Given the description of an element on the screen output the (x, y) to click on. 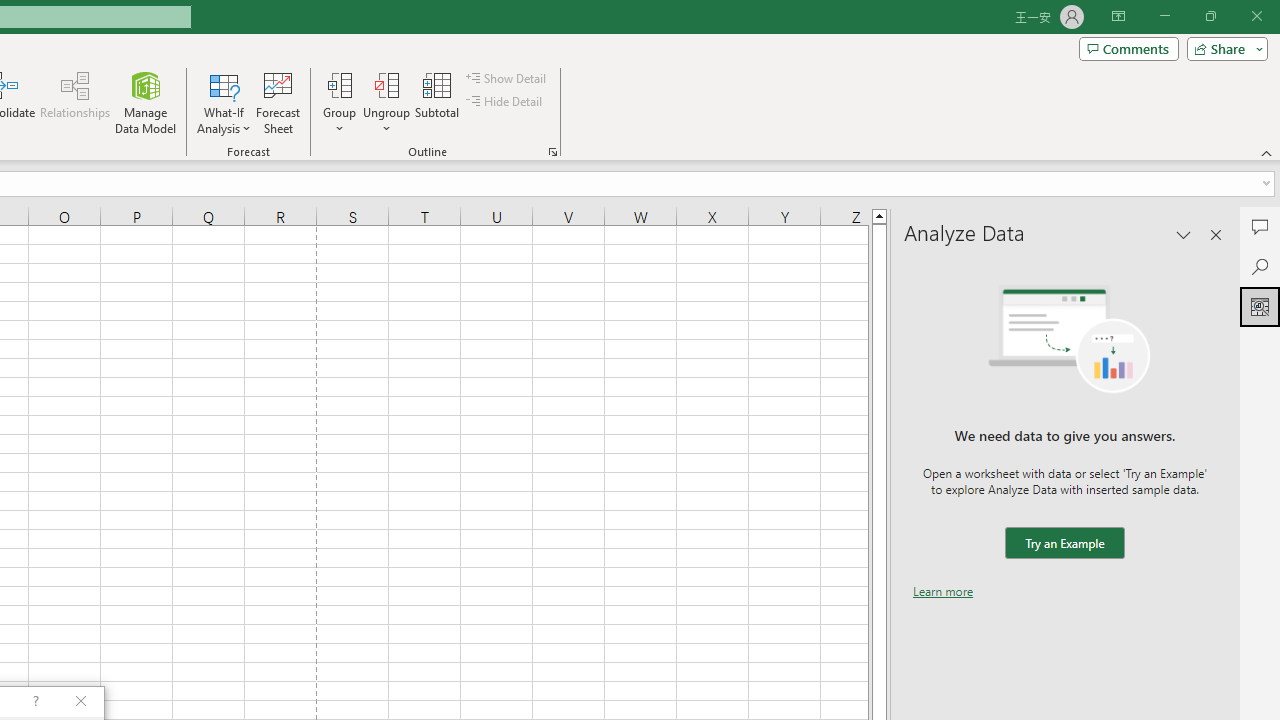
We need data to give you answers. Try an Example (1064, 543)
